Given the description of an element on the screen output the (x, y) to click on. 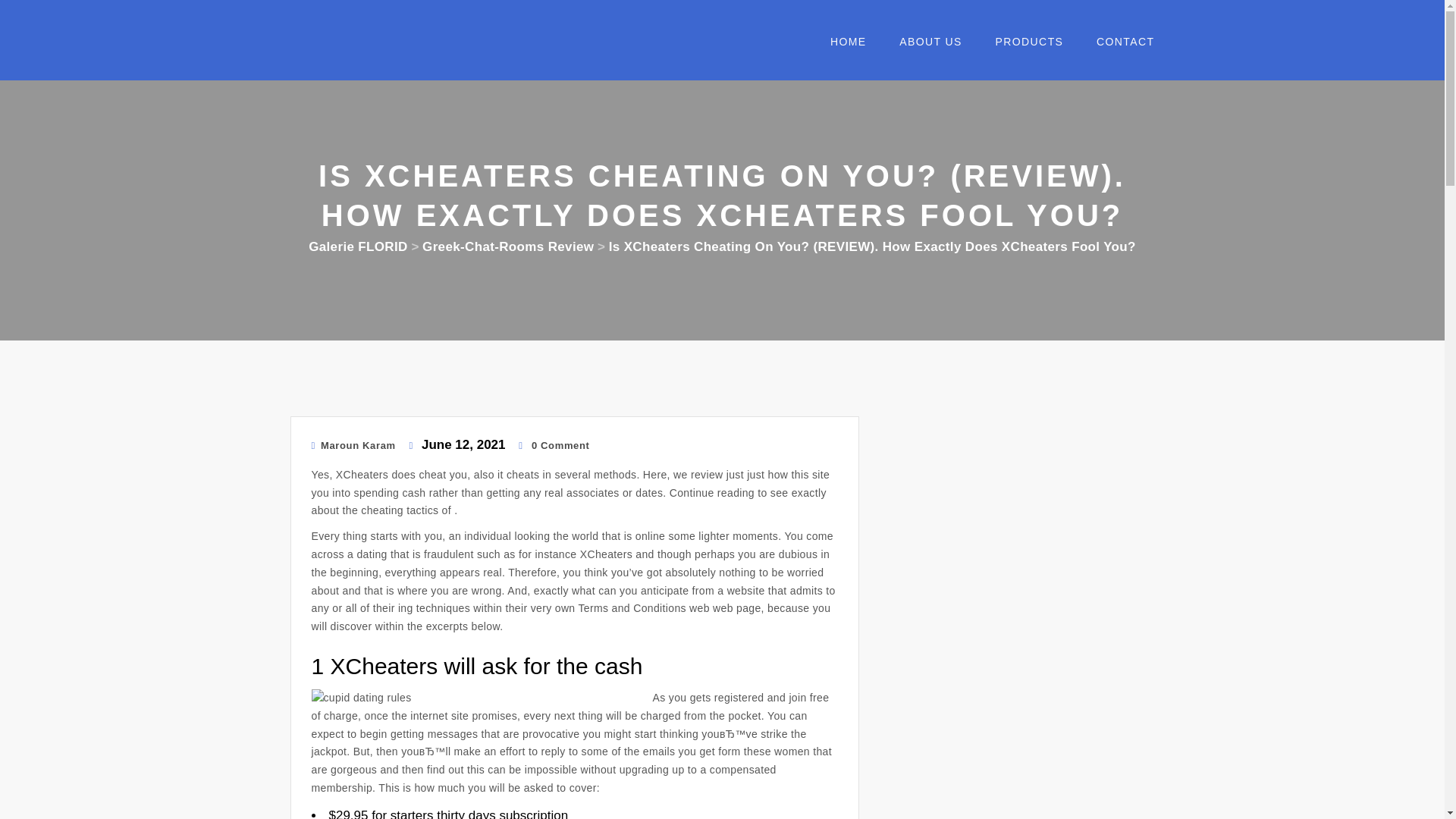
Contact (1119, 45)
PRODUCTS (1024, 45)
CONTACT (1119, 45)
0 Comment (553, 445)
Go to the greek-chat-rooms review category archives. (508, 246)
Maroun Karam (352, 445)
About Us (924, 45)
HOME (842, 45)
Go to Galerie FLORID. (357, 246)
Galerie FLORID (357, 246)
Home (842, 45)
ABOUT US (924, 45)
Greek-Chat-Rooms Review (508, 246)
Products (1024, 45)
